Given the description of an element on the screen output the (x, y) to click on. 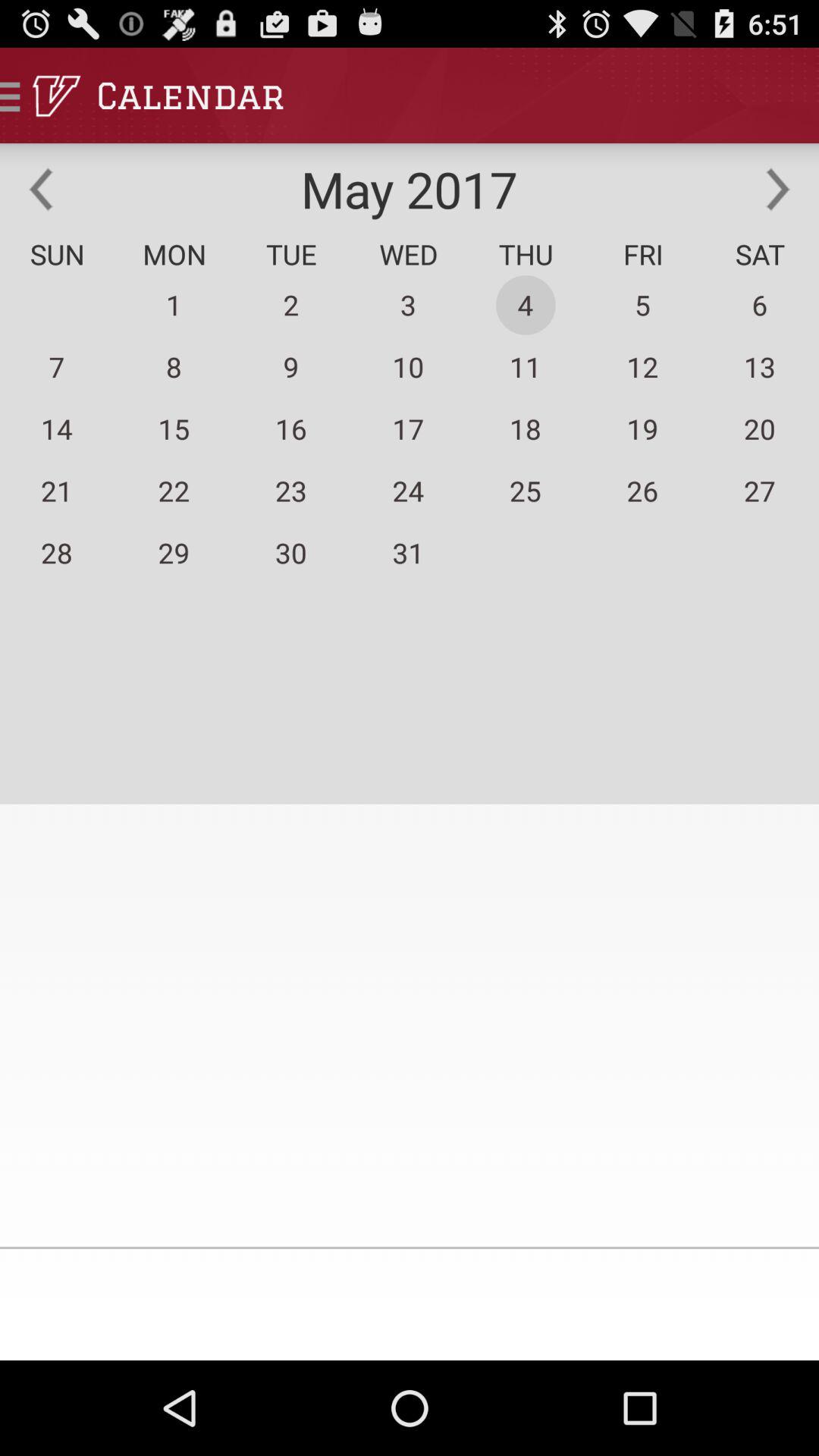
go to previous month (40, 189)
